Given the description of an element on the screen output the (x, y) to click on. 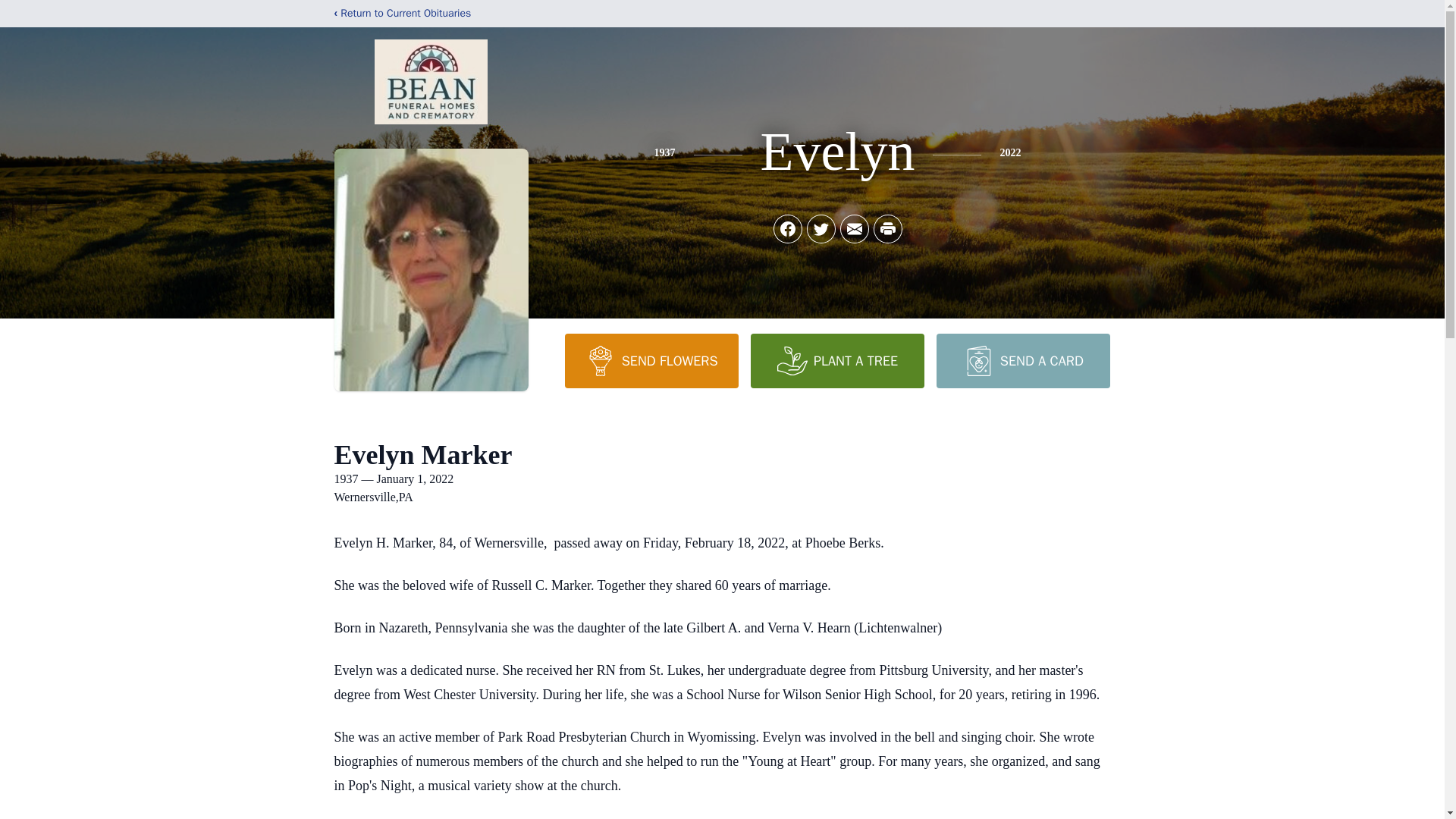
PLANT A TREE (837, 360)
SEND FLOWERS (651, 360)
SEND A CARD (1022, 360)
